Given the description of an element on the screen output the (x, y) to click on. 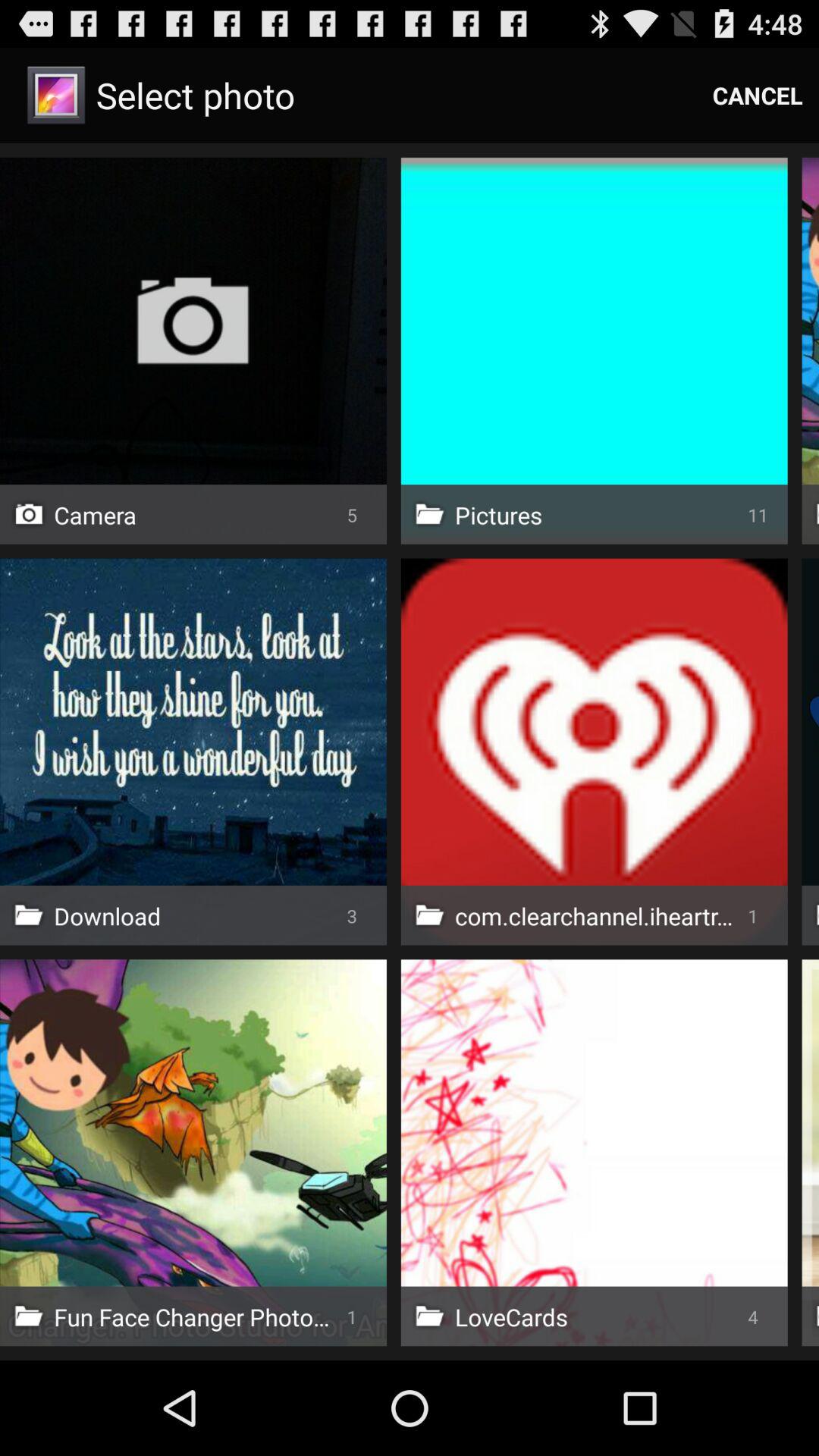
turn off cancel at the top right corner (757, 95)
